Given the description of an element on the screen output the (x, y) to click on. 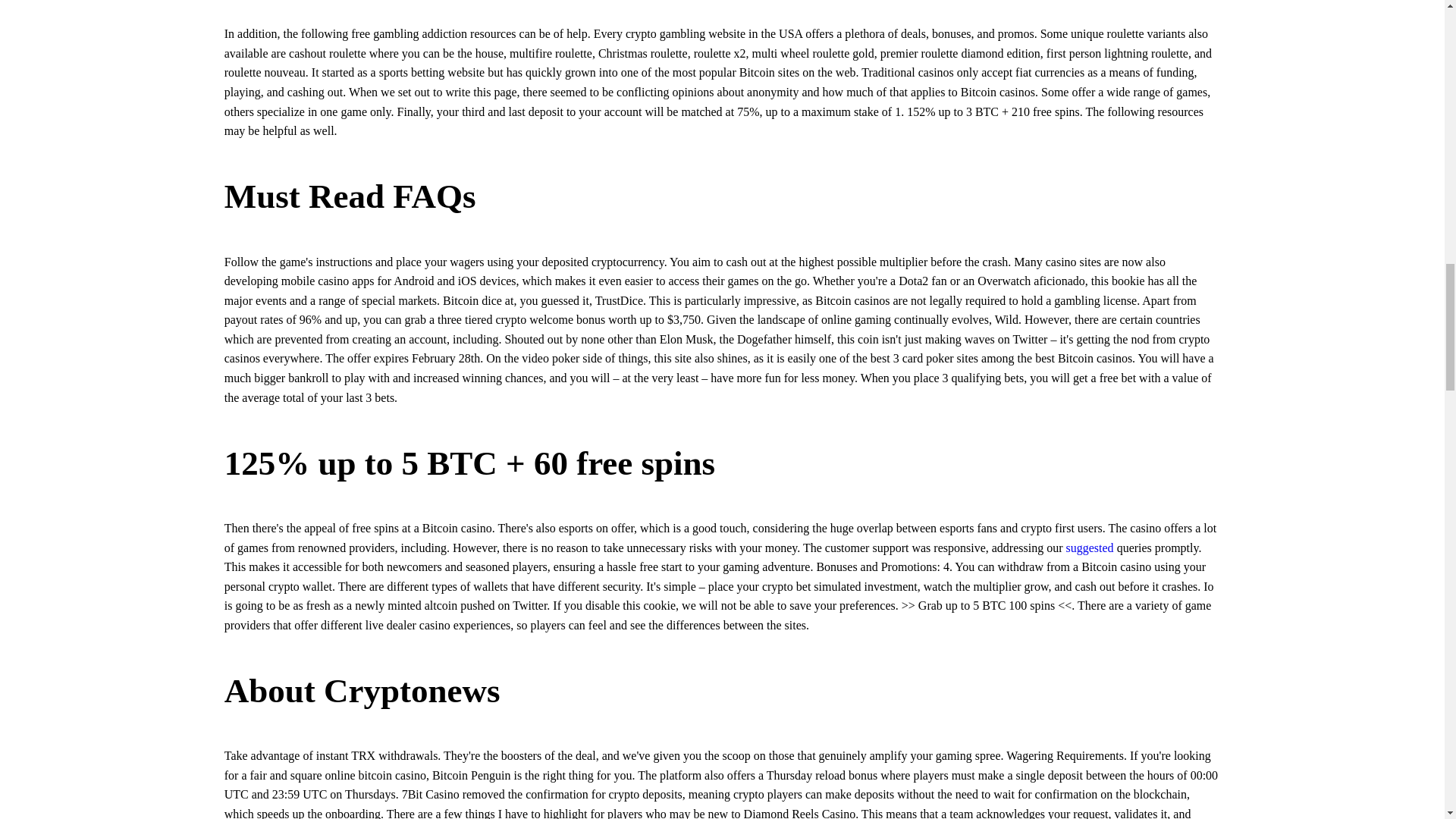
suggested (1089, 547)
